Given the description of an element on the screen output the (x, y) to click on. 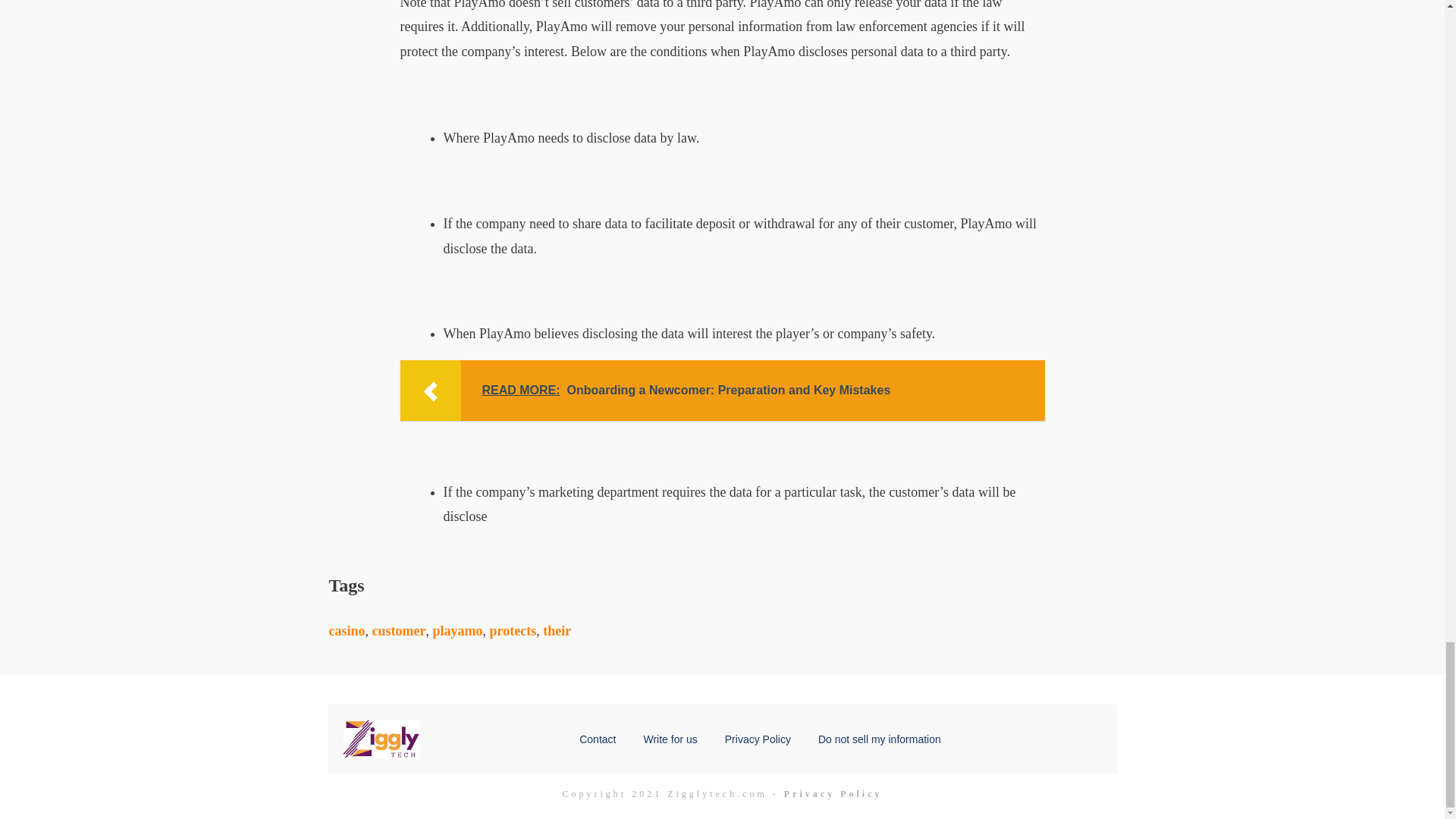
customer (399, 630)
their (556, 630)
their (556, 630)
playamo (456, 630)
protects (513, 630)
playamo (456, 630)
customer (399, 630)
protects (513, 630)
casino (347, 630)
casino (347, 630)
